Given the description of an element on the screen output the (x, y) to click on. 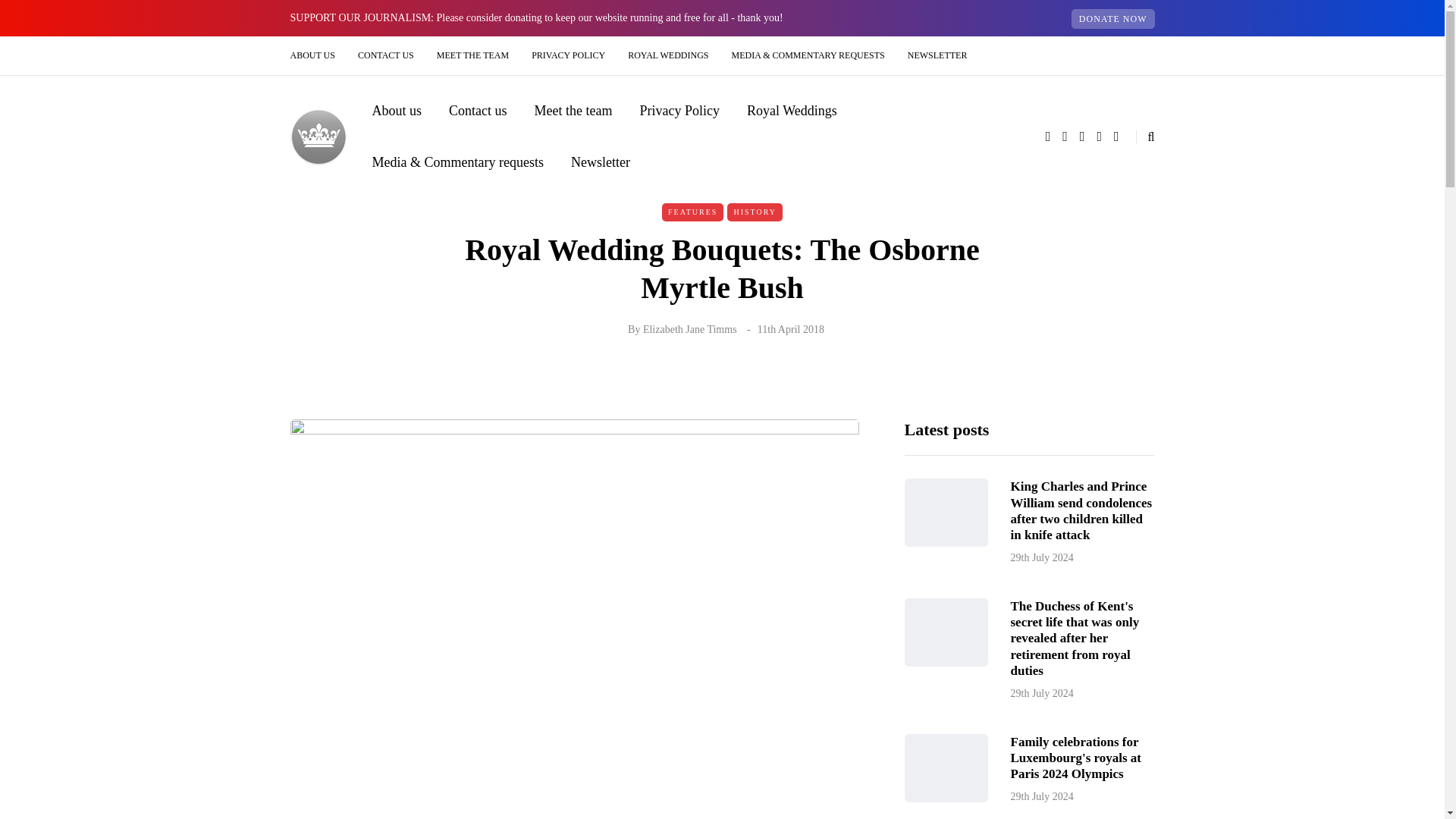
Privacy Policy (679, 110)
Contact us (478, 110)
CONTACT US (385, 55)
Elizabeth Jane Timms (689, 328)
PRIVACY POLICY (567, 55)
Posts by Elizabeth Jane Timms (689, 328)
ABOUT US (317, 55)
HISTORY (754, 212)
FEATURES (692, 212)
Meet the team (573, 110)
DONATE NOW (1112, 18)
MEET THE TEAM (472, 55)
Newsletter (600, 161)
ROYAL WEDDINGS (667, 55)
Royal Weddings (791, 110)
